Given the description of an element on the screen output the (x, y) to click on. 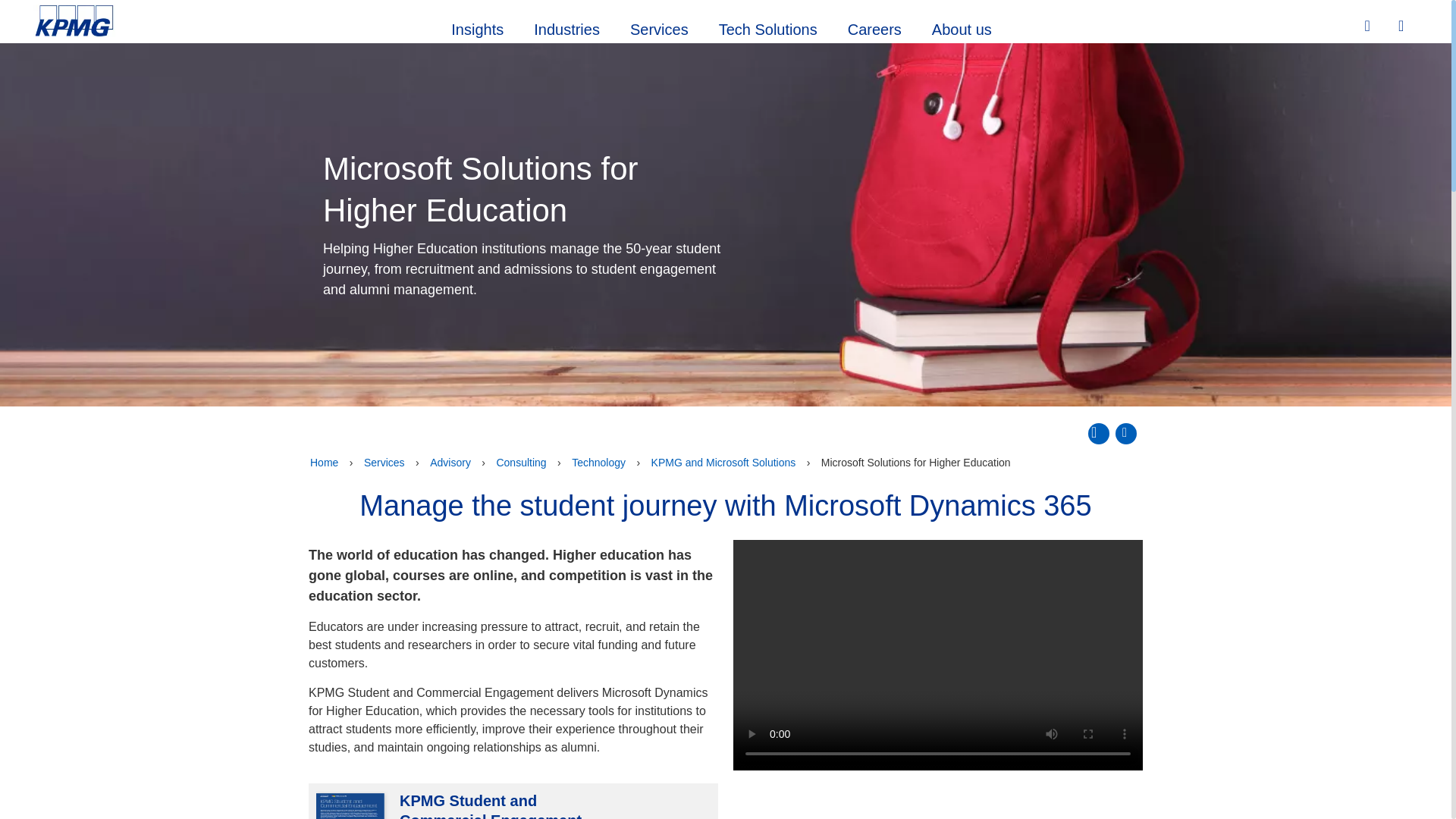
KPMG and Microsoft Solutions (723, 462)
About us (962, 27)
Services (384, 462)
Advisory (449, 462)
Services (658, 27)
Site Selector (1402, 26)
Insights (476, 27)
Technology (598, 462)
Careers (874, 27)
Industries (566, 27)
Go to bottom of page (1126, 433)
Search (1369, 26)
Home (323, 462)
Consulting (521, 462)
